Given the description of an element on the screen output the (x, y) to click on. 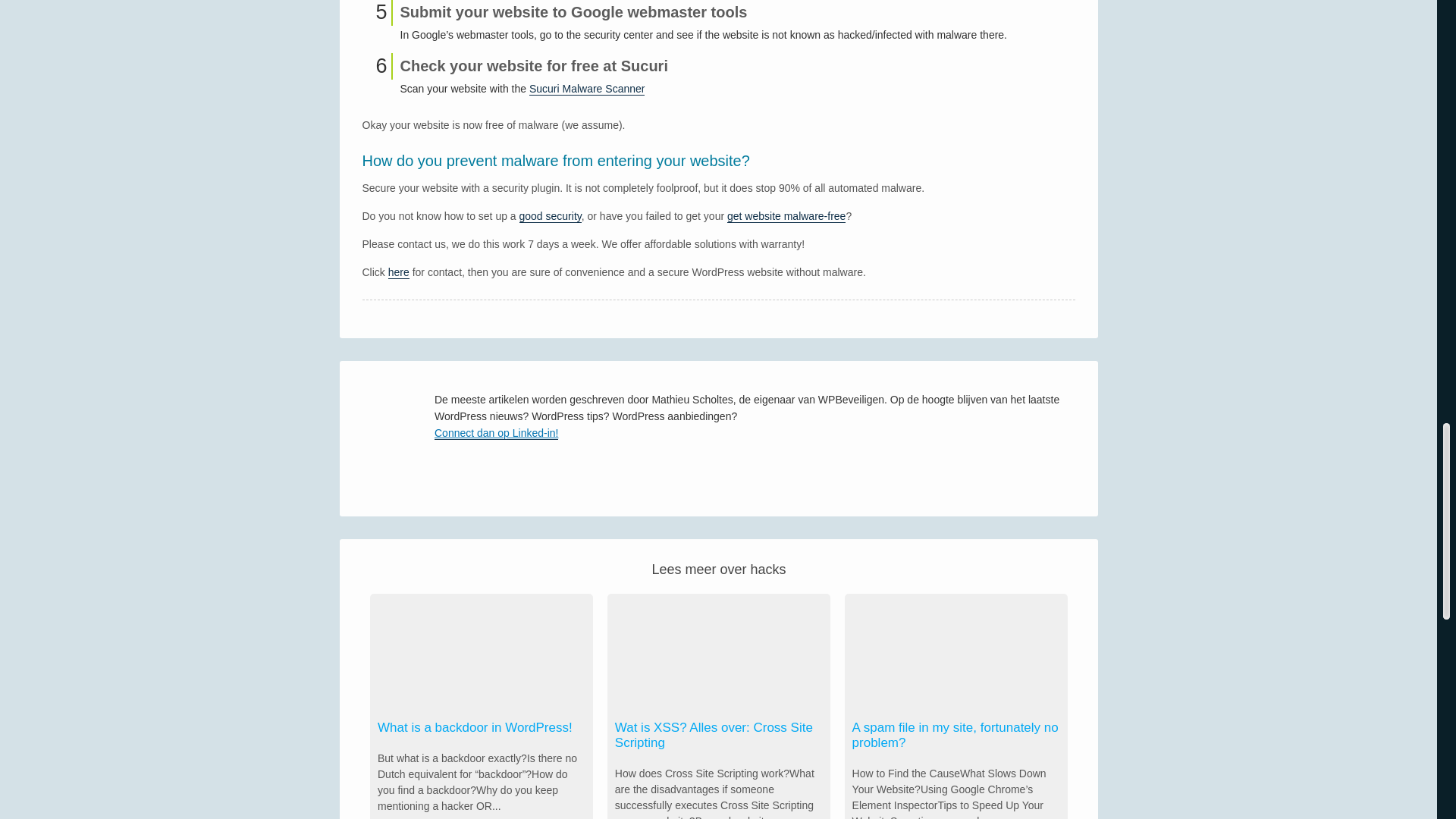
here (398, 272)
get website malware-free (785, 215)
Sucuri Malware Scanner (587, 88)
good security (549, 215)
Connect dan op Linked-in! (581, 436)
